Given the description of an element on the screen output the (x, y) to click on. 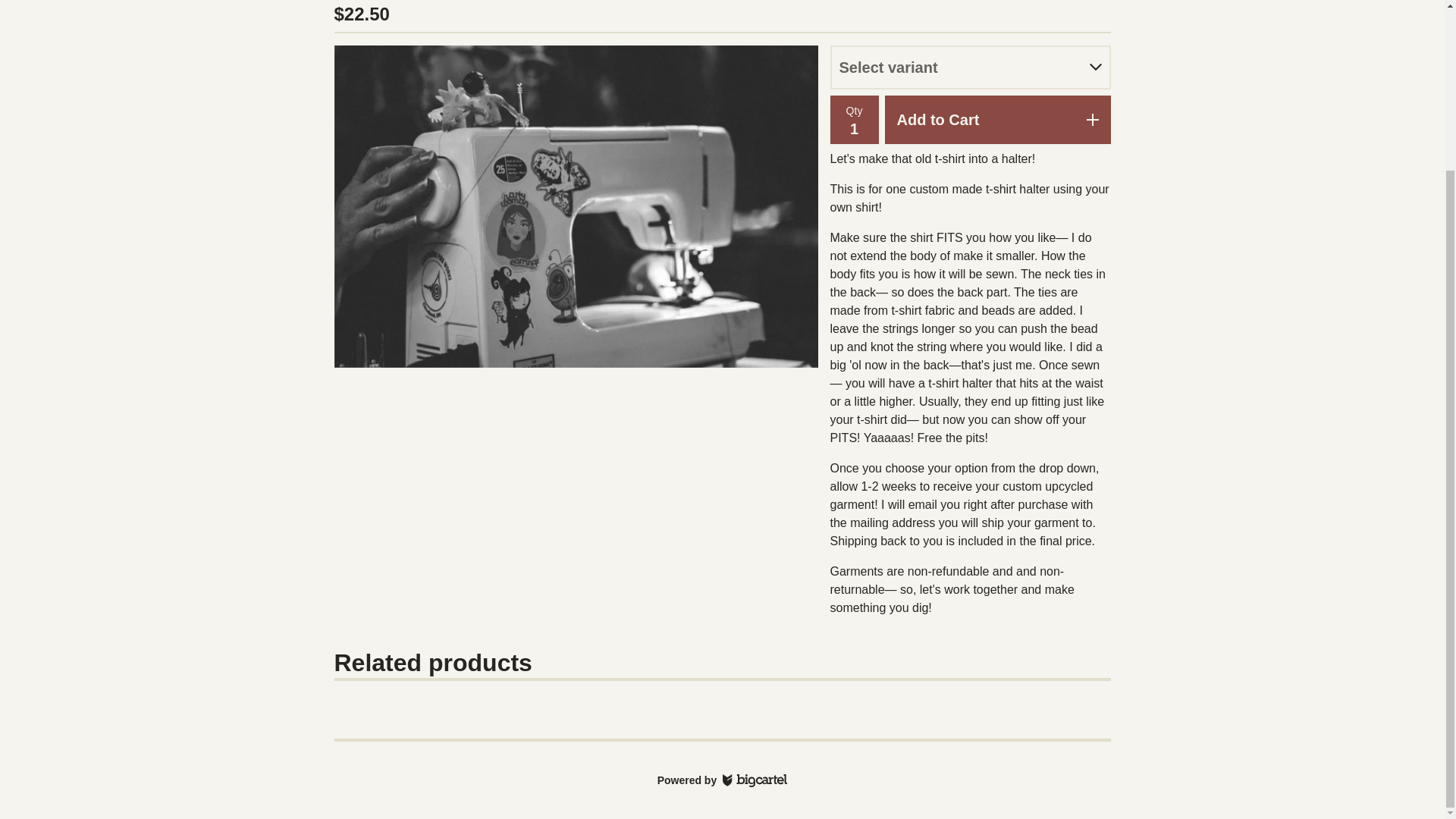
1 (853, 128)
